Given the description of an element on the screen output the (x, y) to click on. 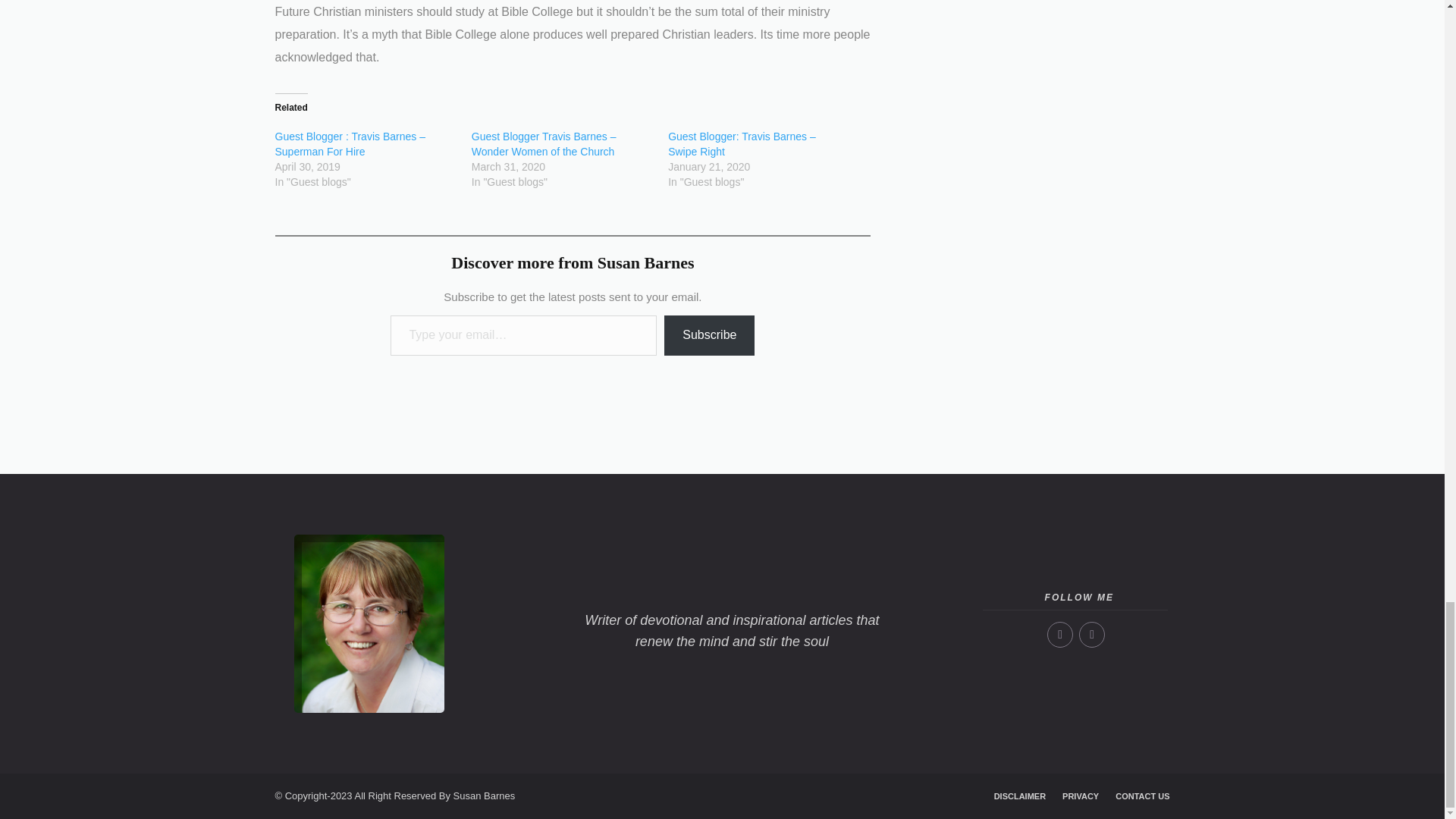
Follow on Goodreads (1091, 634)
Please fill in this field. (523, 335)
Follow on Facebook (1059, 634)
Subscribe (708, 335)
